Given the description of an element on the screen output the (x, y) to click on. 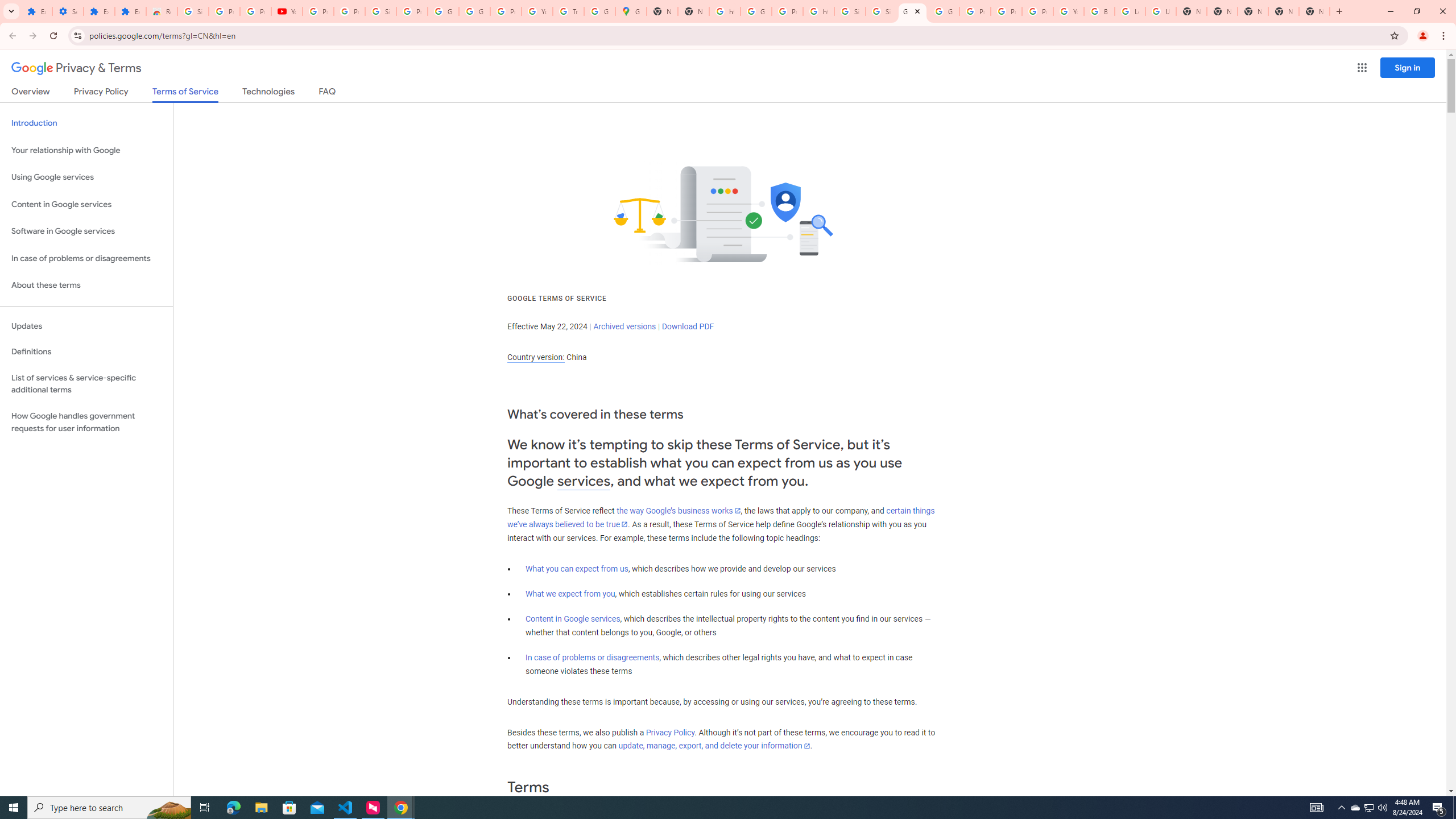
Google Account (443, 11)
Software in Google services (86, 230)
In case of problems or disagreements (592, 657)
Sign in - Google Accounts (380, 11)
Extensions (130, 11)
Introduction (86, 122)
Sign in - Google Accounts (849, 11)
